Given the description of an element on the screen output the (x, y) to click on. 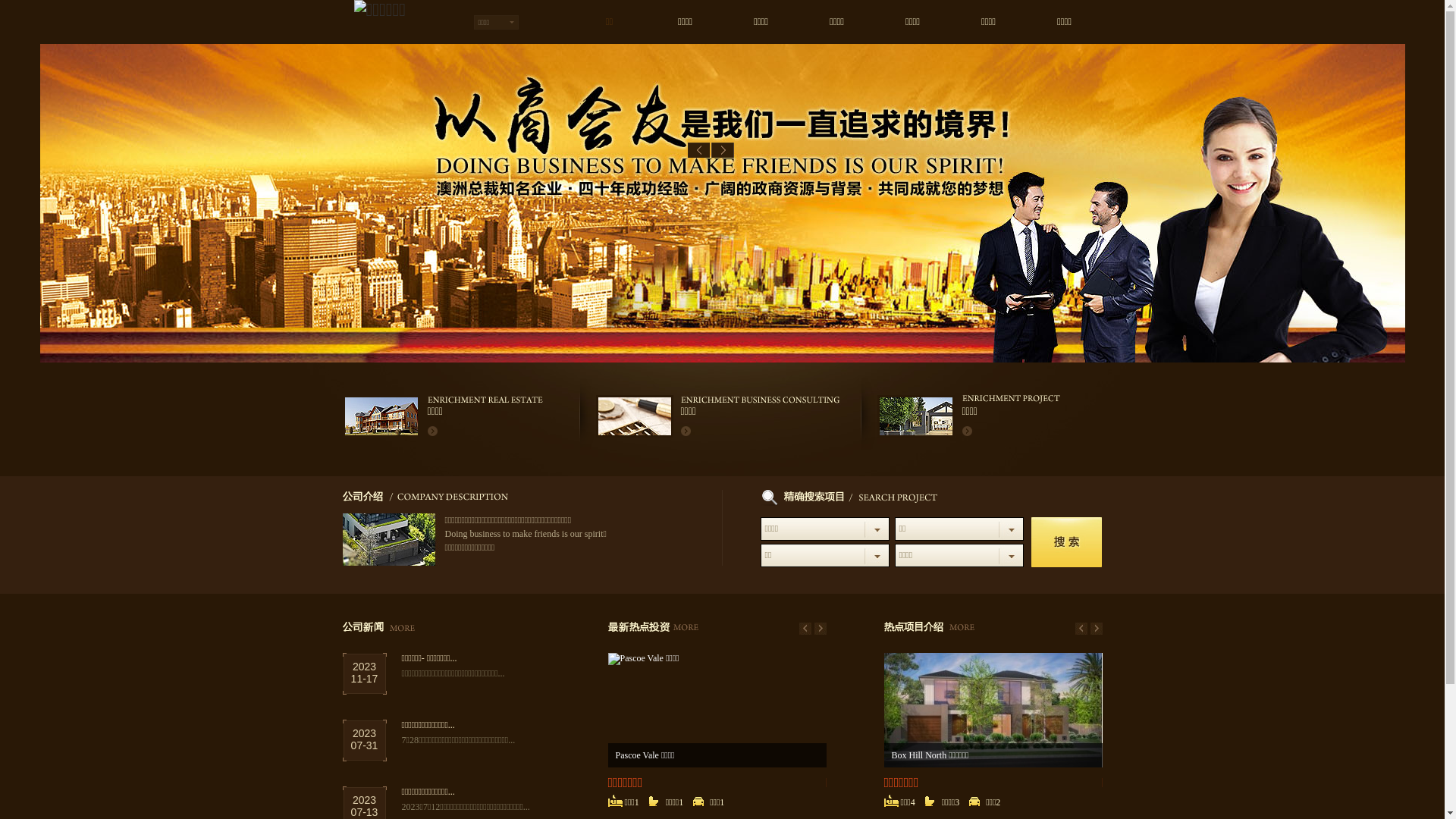
Search Element type: text (1066, 542)
